Given the description of an element on the screen output the (x, y) to click on. 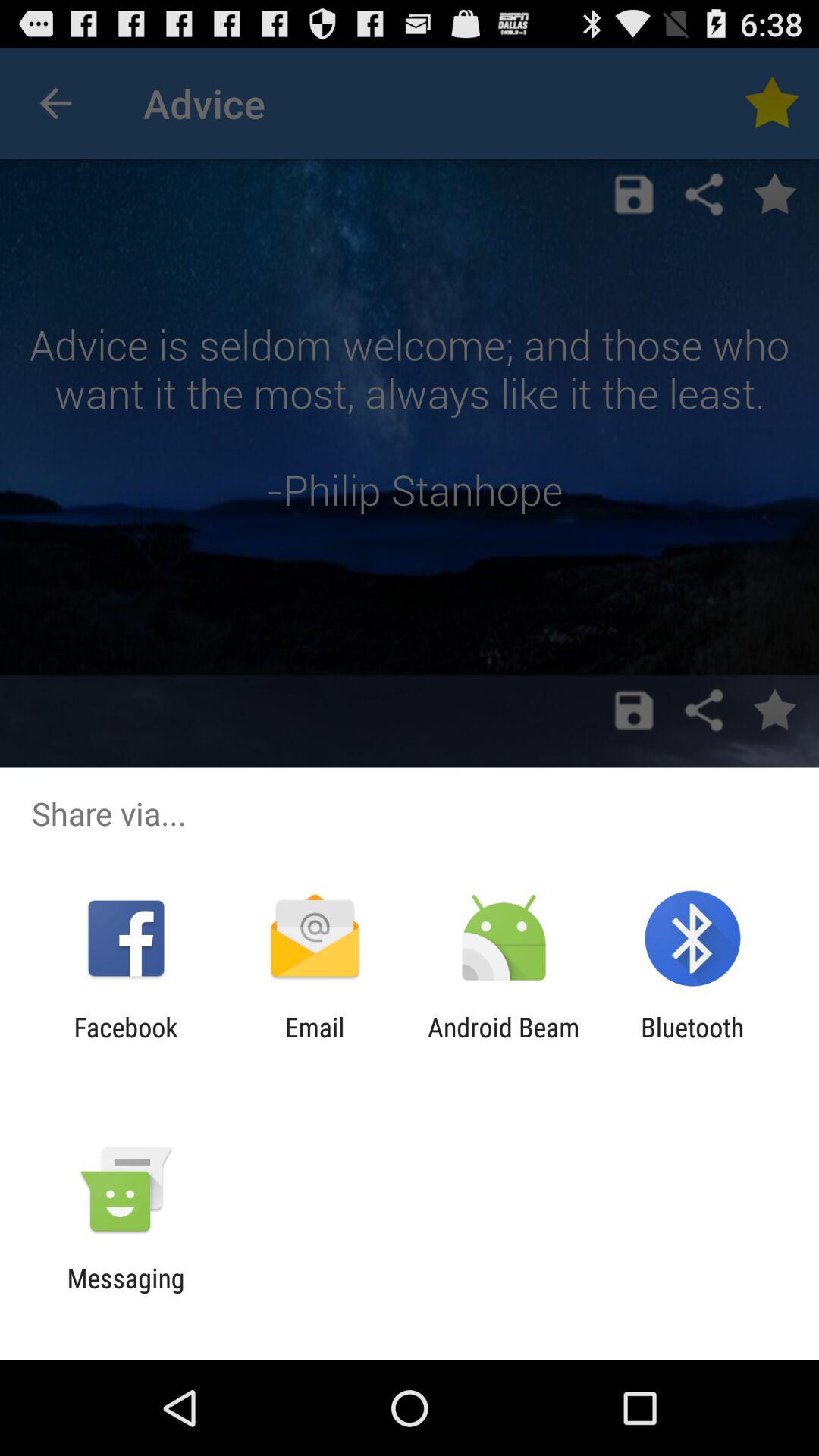
click the item to the left of email icon (125, 1042)
